Given the description of an element on the screen output the (x, y) to click on. 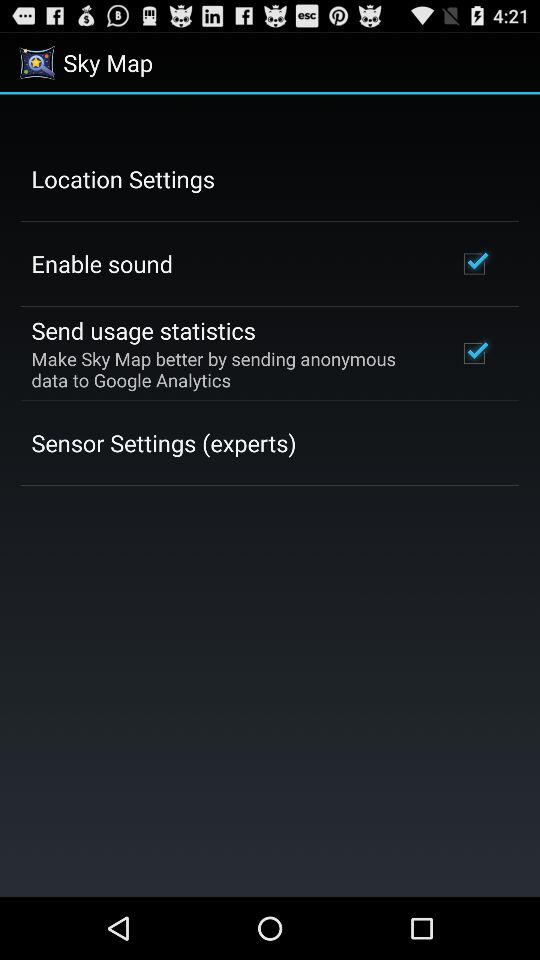
adjust settings (270, 495)
